Given the description of an element on the screen output the (x, y) to click on. 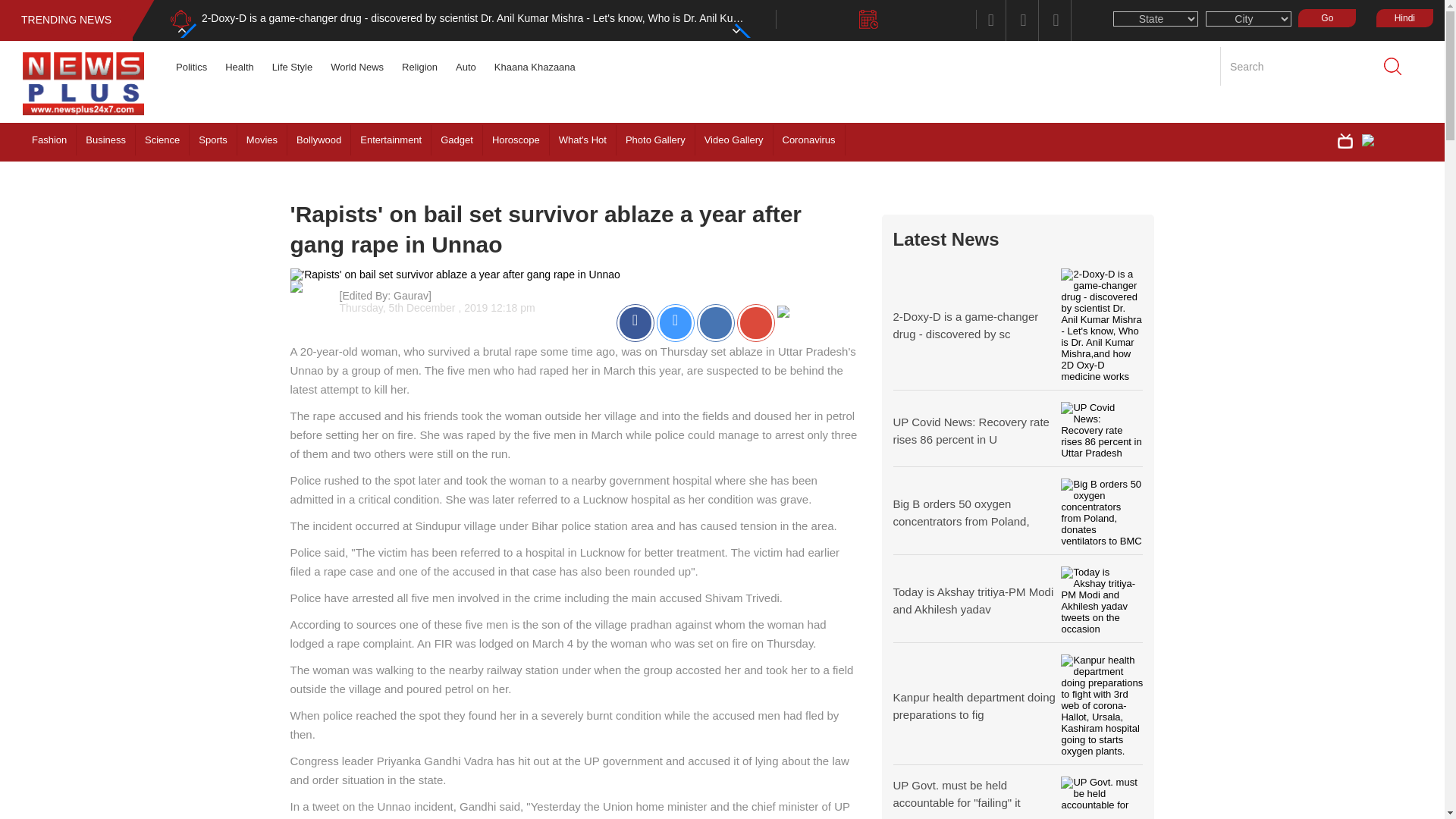
Hindi (1400, 17)
Health (239, 67)
Hindi (1403, 18)
Go (1326, 18)
Politics (191, 67)
